Given the description of an element on the screen output the (x, y) to click on. 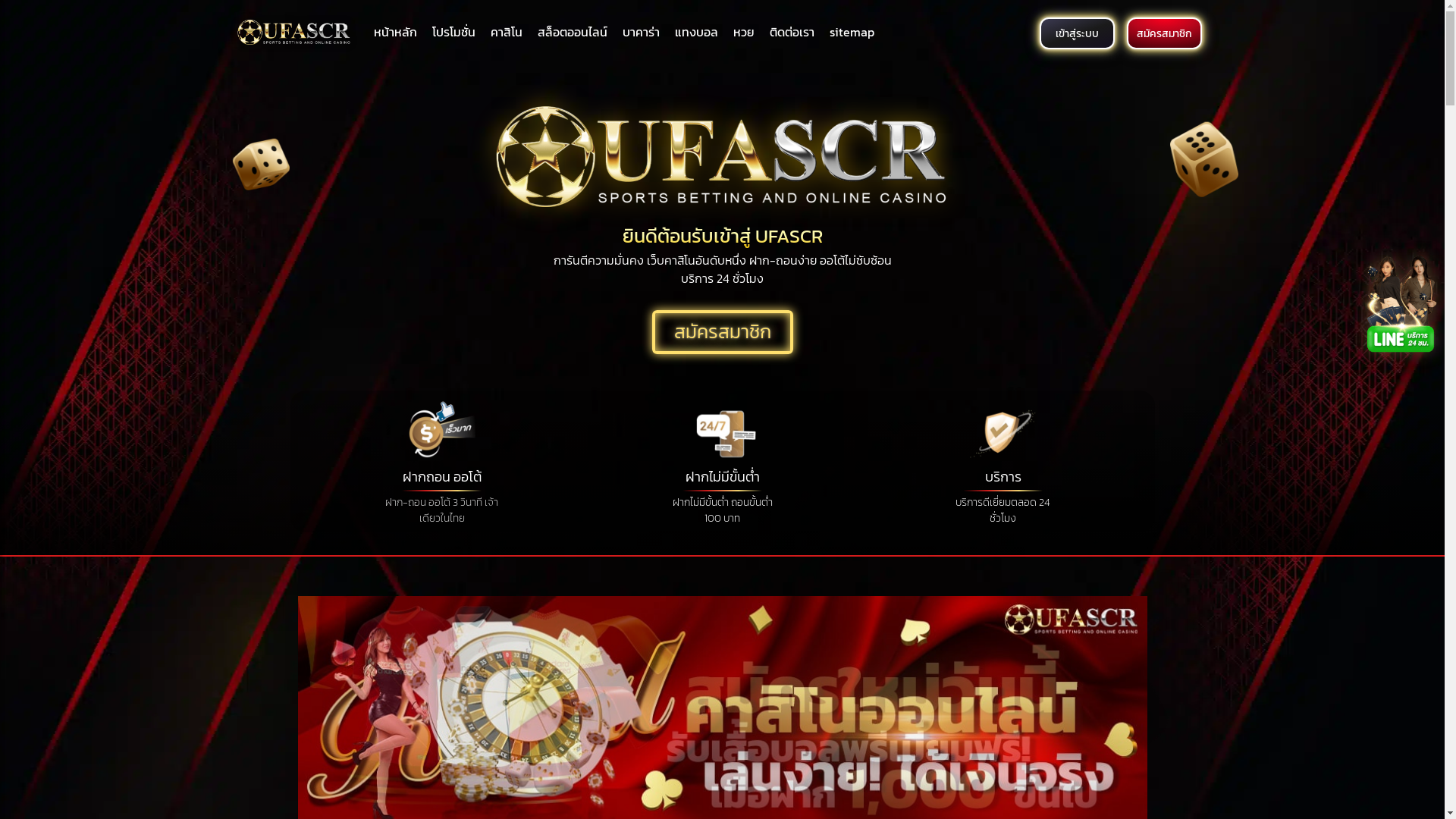
sitemap Element type: text (851, 31)
